Given the description of an element on the screen output the (x, y) to click on. 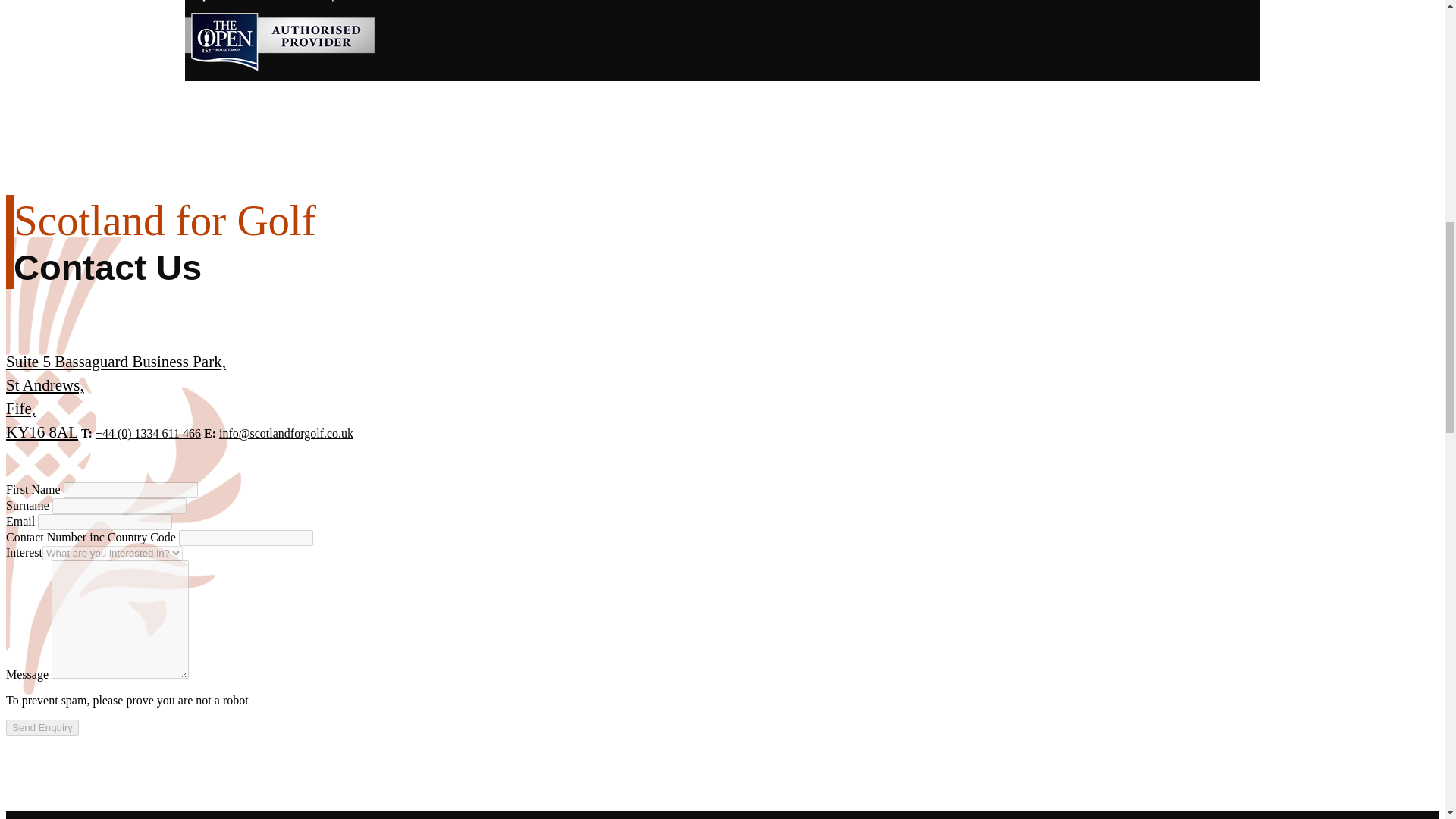
Send Enquiry (41, 727)
